Given the description of an element on the screen output the (x, y) to click on. 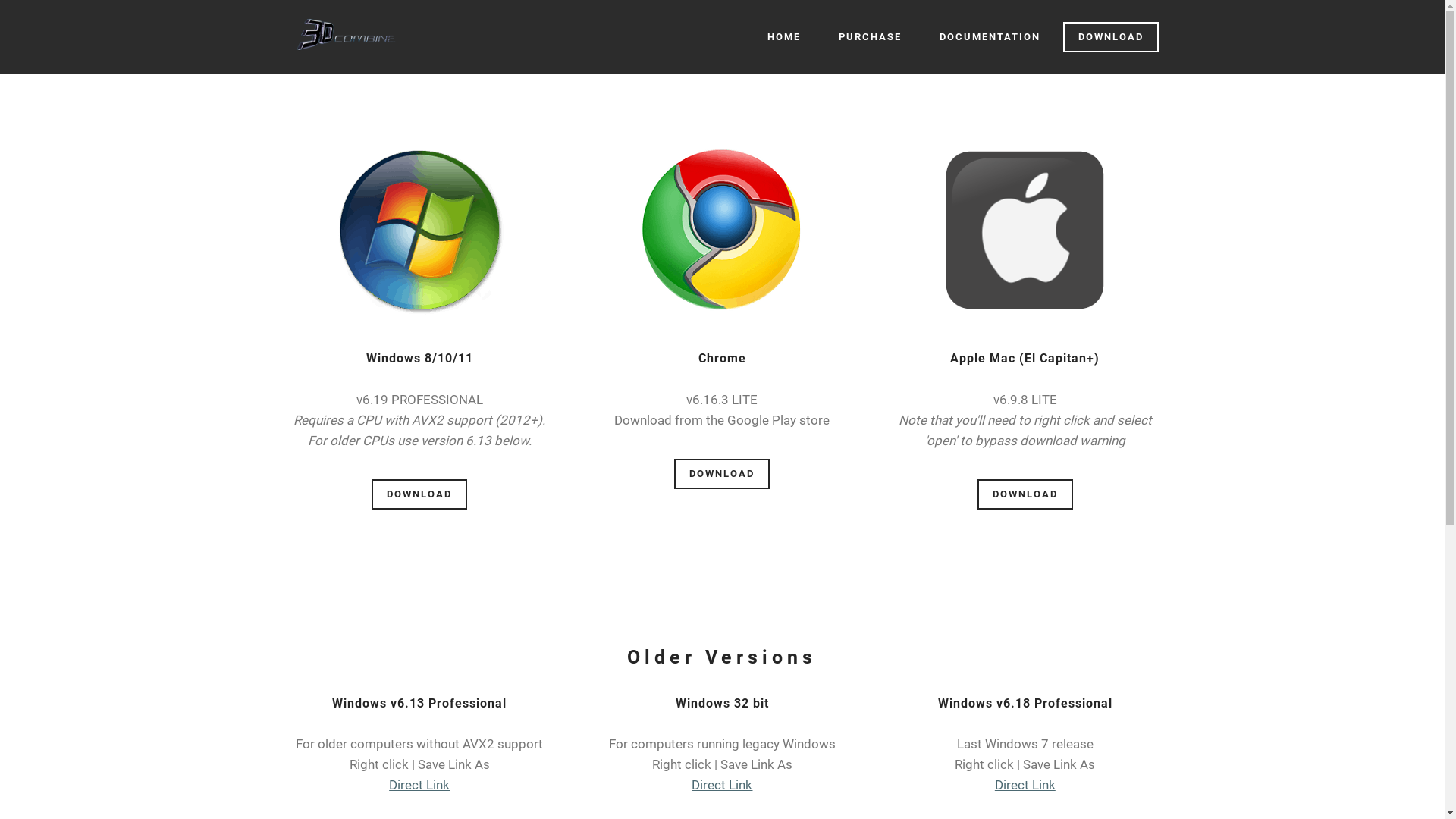
DOWNLOAD Element type: text (1025, 494)
PURCHASE Element type: text (869, 36)
DOWNLOAD Element type: text (1110, 37)
DOCUMENTATION Element type: text (988, 36)
Direct Link Element type: text (1024, 784)
HOME Element type: text (783, 36)
DOWNLOAD Element type: text (721, 473)
Direct Link Element type: text (419, 784)
DOWNLOAD Element type: text (419, 494)
Direct Link Element type: text (721, 784)
